Given the description of an element on the screen output the (x, y) to click on. 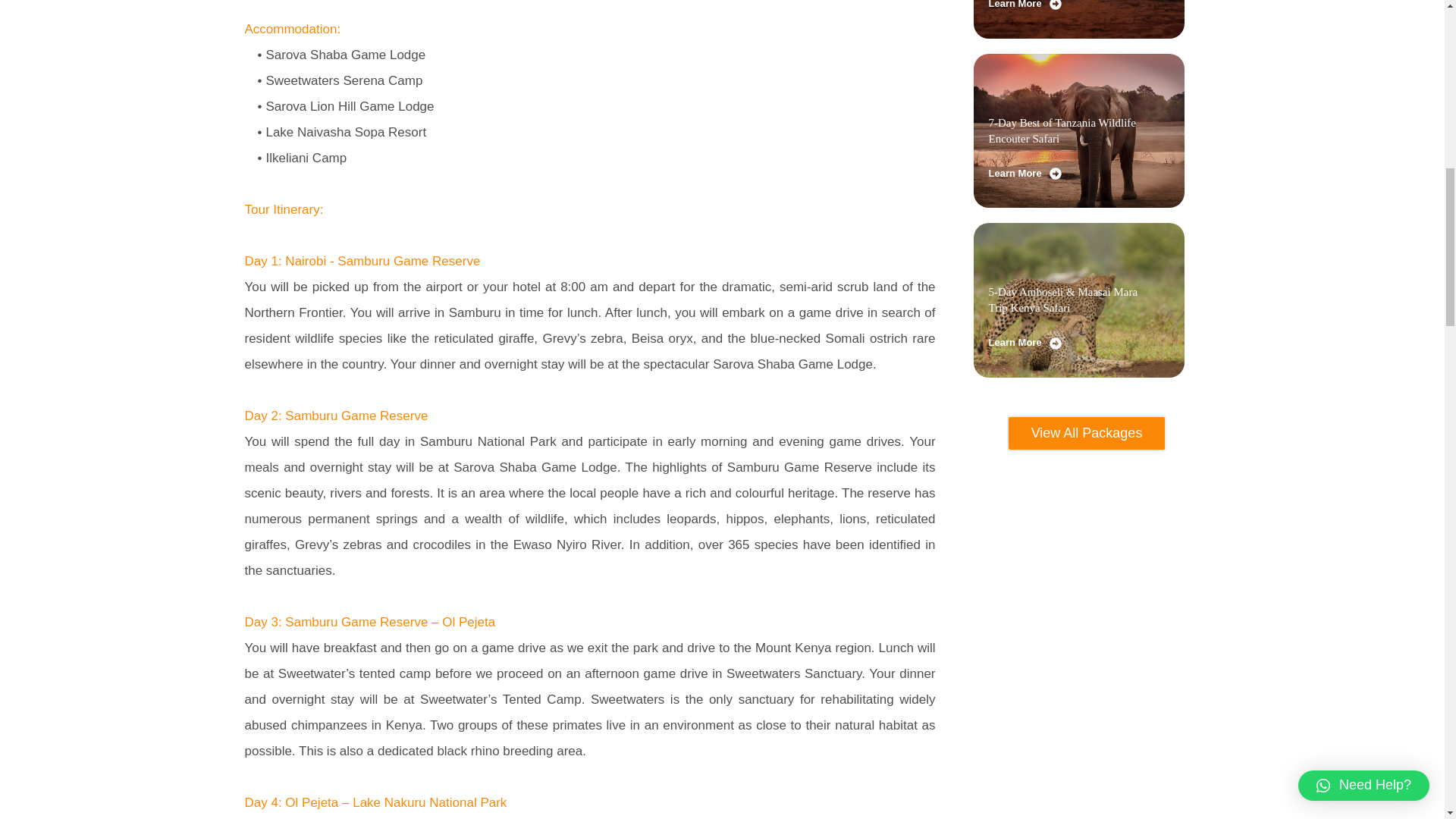
Learn More (1024, 173)
Learn More (1024, 342)
Learn More (1024, 7)
View All Packages (1087, 433)
